Given the description of an element on the screen output the (x, y) to click on. 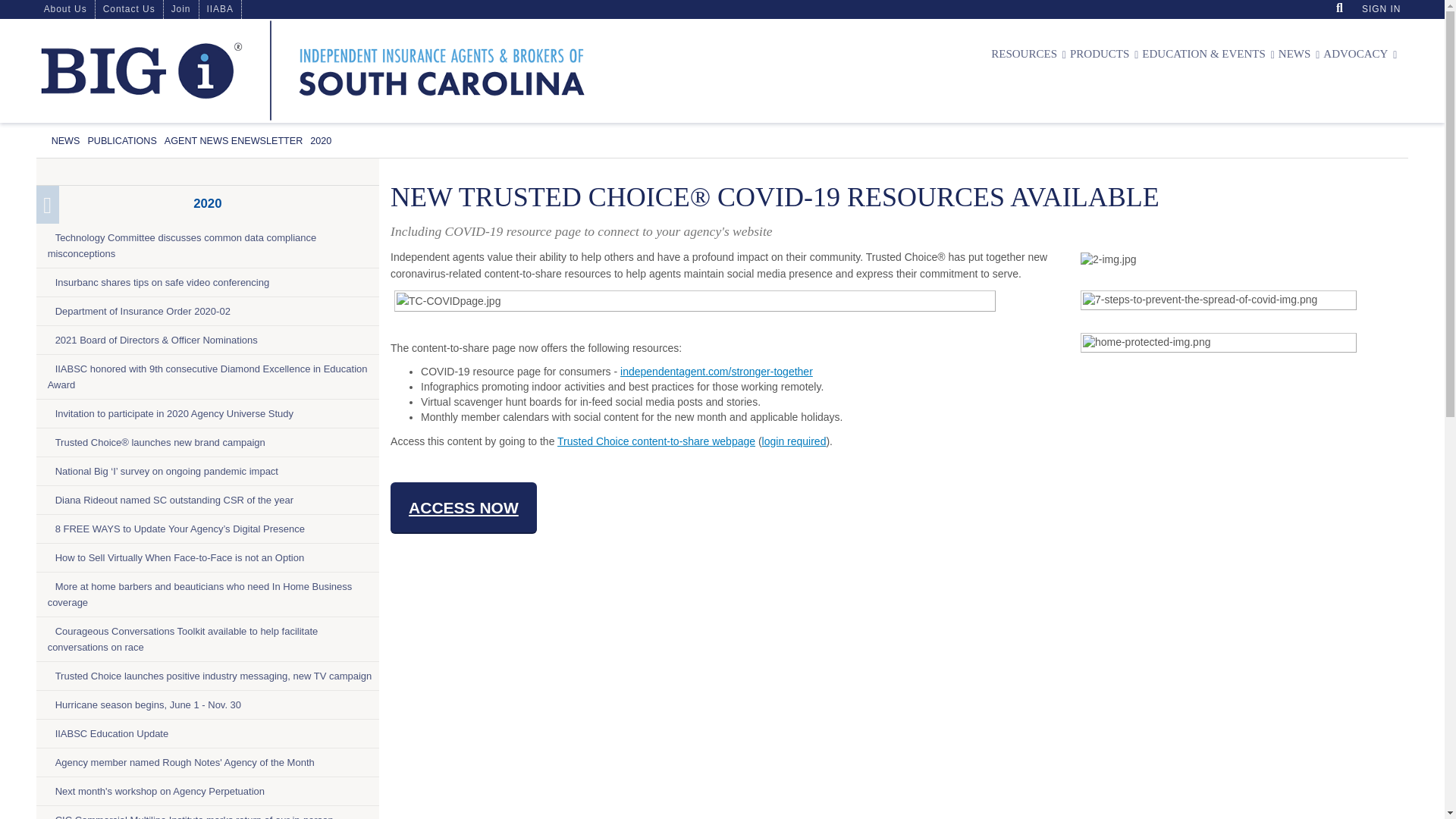
2020 (320, 140)
IIABA (219, 9)
Contact Us (129, 9)
About Us (65, 9)
AgentNews (233, 140)
News (65, 140)
IACBWS05 (5, 5)
RESOURCES (1026, 53)
Sign In to access benefits (1380, 9)
Home (312, 70)
